Given the description of an element on the screen output the (x, y) to click on. 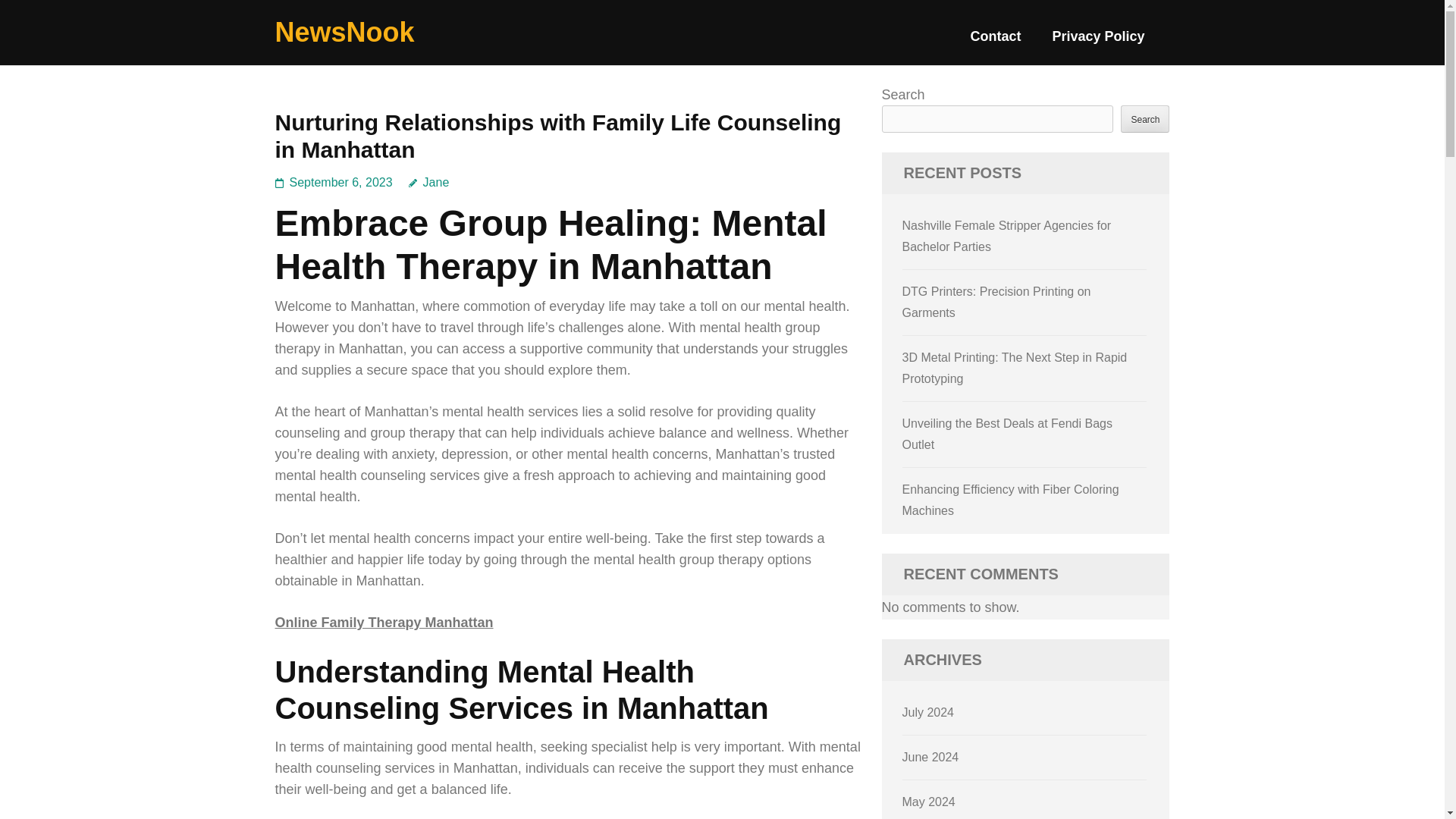
June 2024 (930, 757)
May 2024 (928, 801)
Privacy Policy (1097, 42)
Contact (994, 42)
NewsNook (344, 31)
Enhancing Efficiency with Fiber Coloring Machines (1010, 499)
DTG Printers: Precision Printing on Garments (996, 302)
July 2024 (928, 712)
September 6, 2023 (341, 182)
Nashville Female Stripper Agencies for Bachelor Parties (1007, 236)
Search (1145, 118)
Unveiling the Best Deals at Fendi Bags Outlet (1007, 433)
Jane (429, 182)
3D Metal Printing: The Next Step in Rapid Prototyping (1014, 367)
Online Family Therapy Manhattan (384, 622)
